Given the description of an element on the screen output the (x, y) to click on. 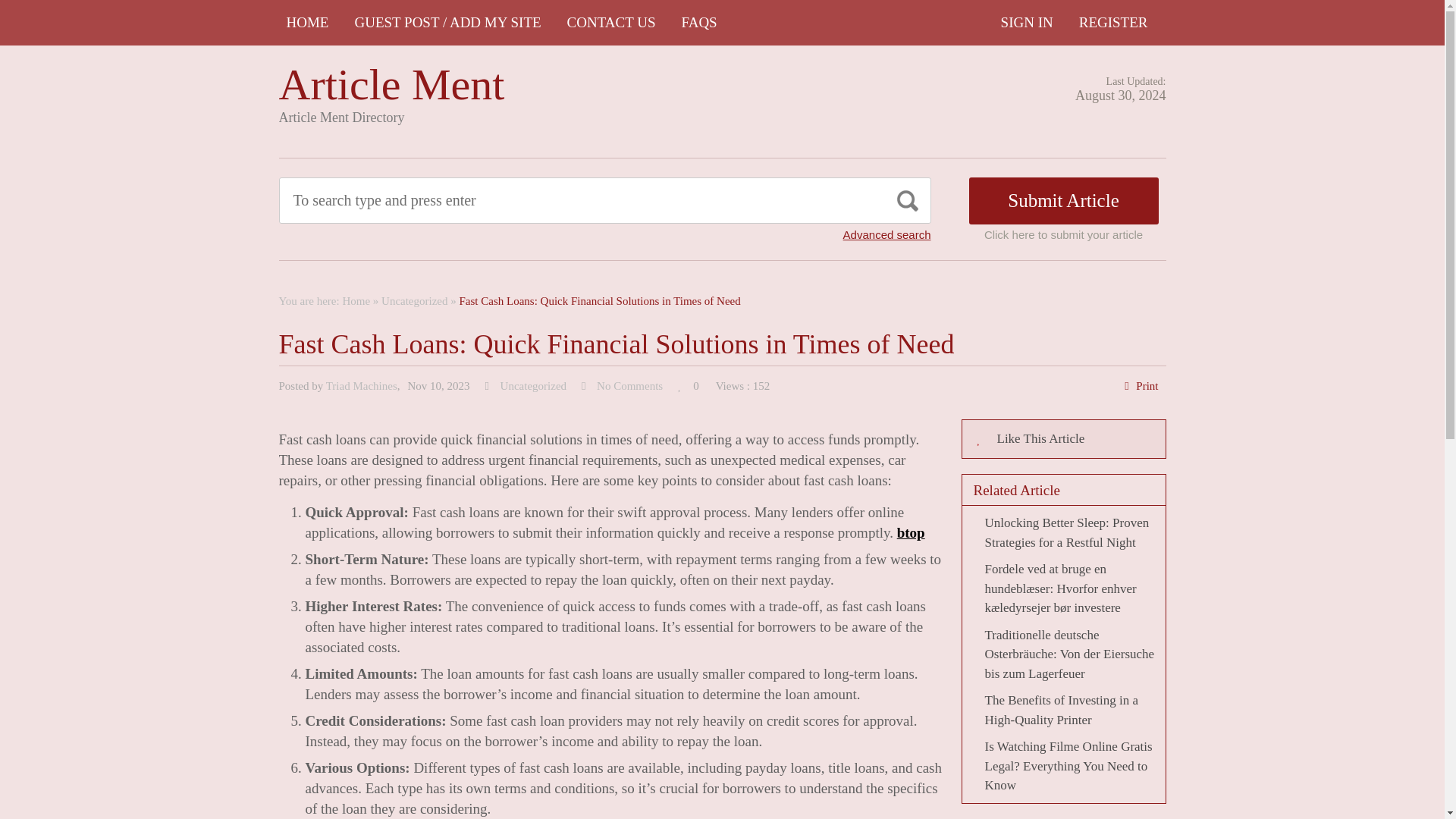
Advanced search (887, 234)
SIGN IN (1026, 22)
Submit Article (1063, 200)
btop (910, 532)
The Benefits of Investing in a High-Quality Printer (1061, 709)
To search type and press enter (535, 200)
Posts by Triad Machines (361, 386)
